Given the description of an element on the screen output the (x, y) to click on. 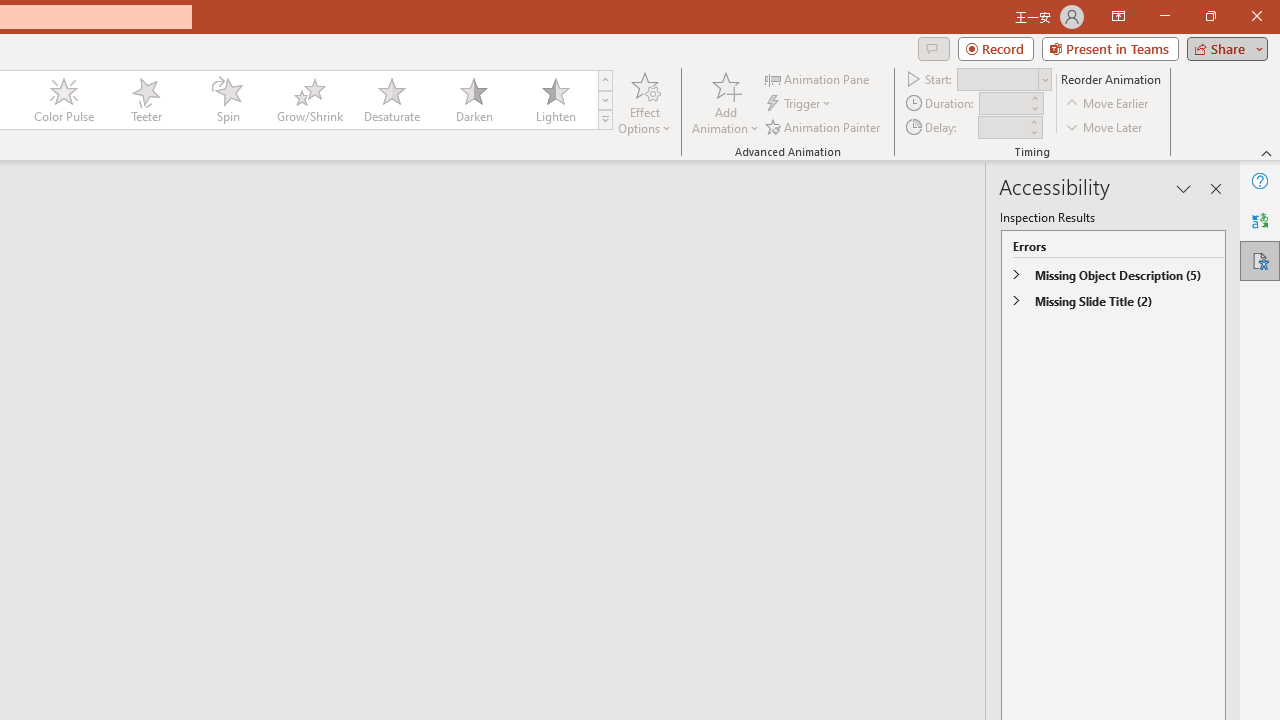
Restore Down (1210, 16)
Less (1033, 132)
Grow/Shrink (309, 100)
Help (1260, 180)
Animation Duration (1003, 103)
Row Down (605, 100)
Record (995, 48)
Present in Teams (1109, 48)
Teeter (145, 100)
Collapse the Ribbon (1267, 152)
More (1033, 121)
Class: NetUIImage (605, 119)
Darken (473, 100)
Ribbon Display Options (1118, 16)
